Given the description of an element on the screen output the (x, y) to click on. 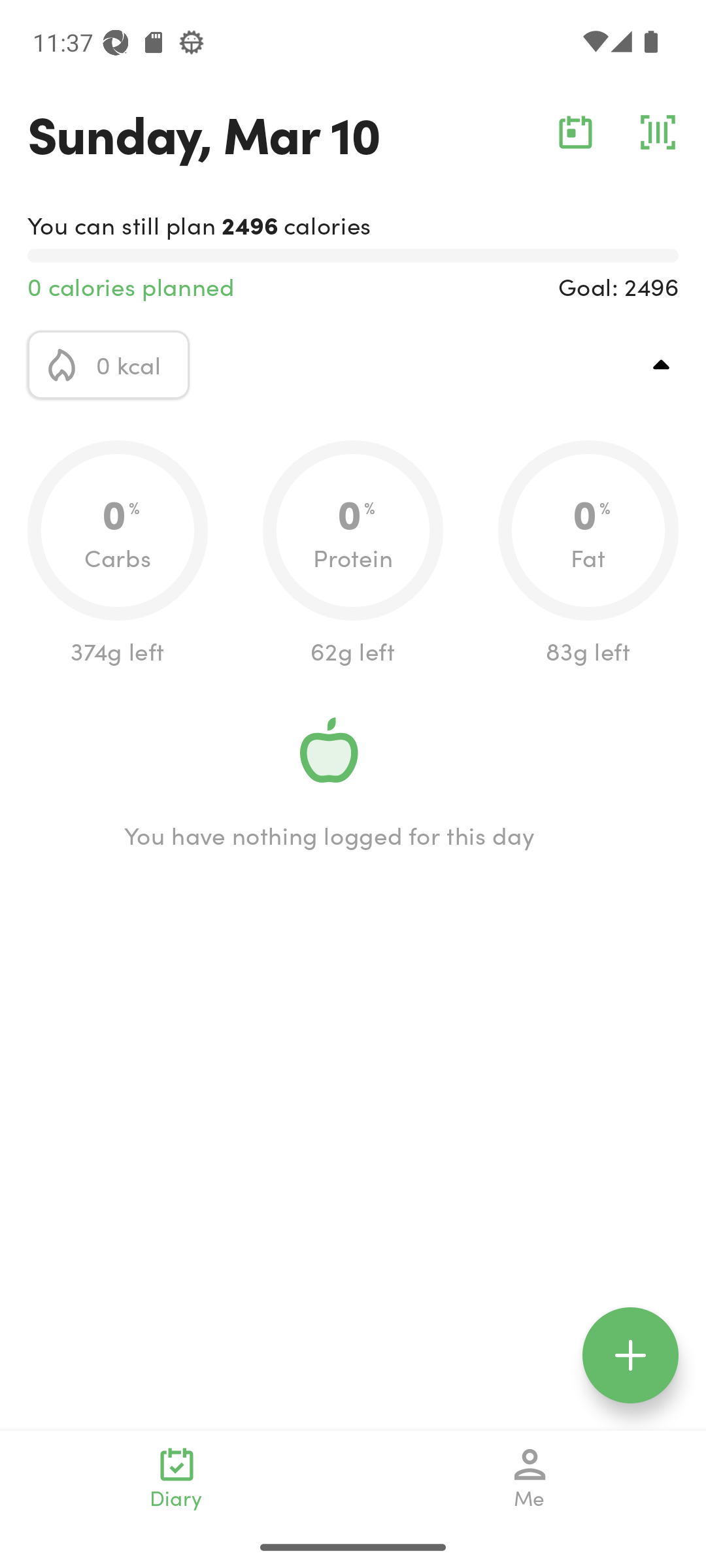
calendar_action (575, 132)
barcode_action (658, 132)
calorie_icon 0 kcal (108, 365)
top_right_action (661, 365)
0.0 0 % Carbs 374g left (117, 553)
0.0 0 % Protein 62g left (352, 553)
0.0 0 % Fat 83g left (588, 553)
floating_action_icon (630, 1355)
Me navigation_icon (529, 1478)
